Given the description of an element on the screen output the (x, y) to click on. 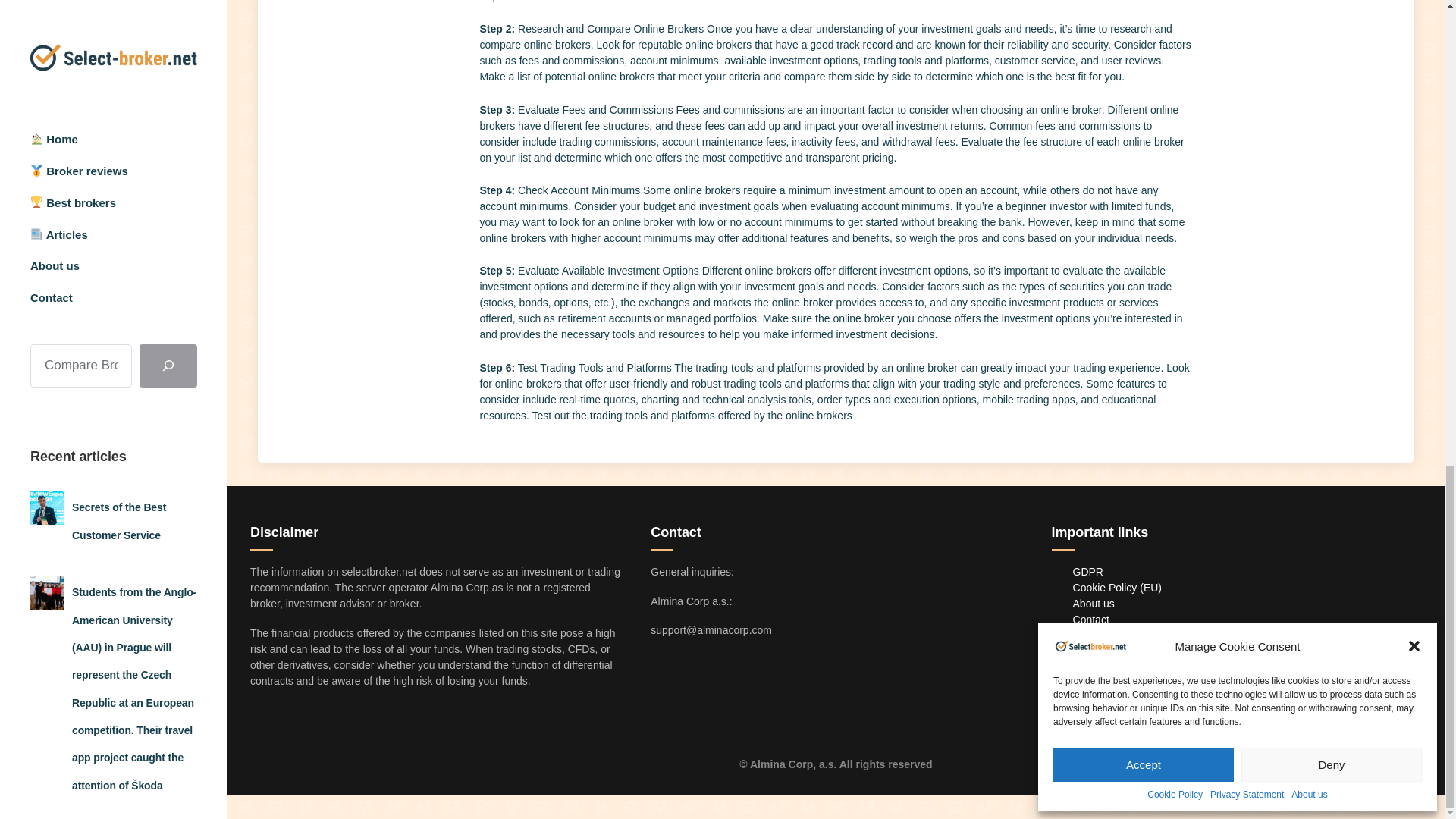
TOP 10 ways to make money online - and what to look out for? (132, 20)
